Given the description of an element on the screen output the (x, y) to click on. 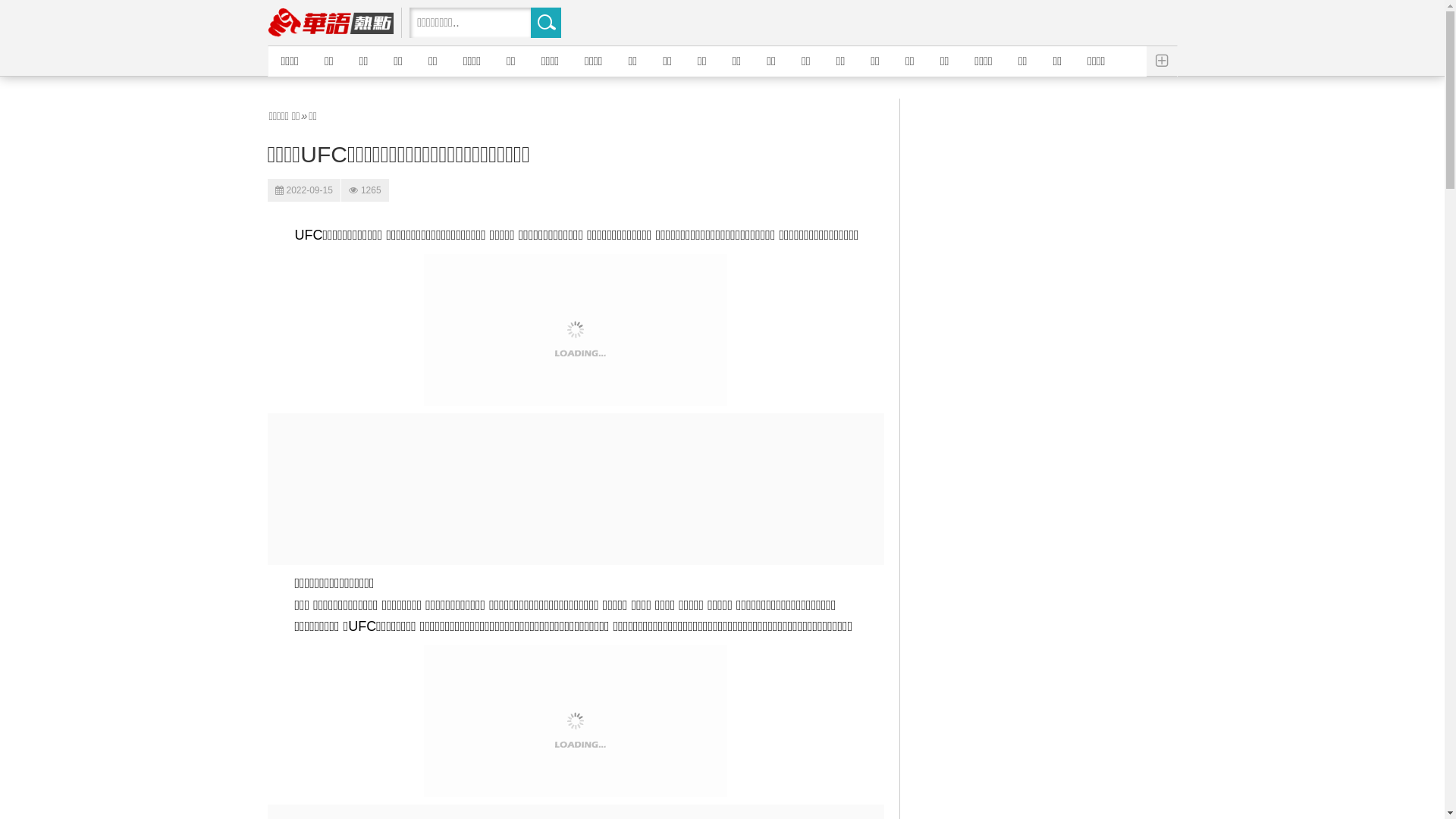
2022-09-15 Element type: text (303, 190)
Advertisement Element type: hover (1049, 325)
Advertisement Element type: hover (574, 488)
